Given the description of an element on the screen output the (x, y) to click on. 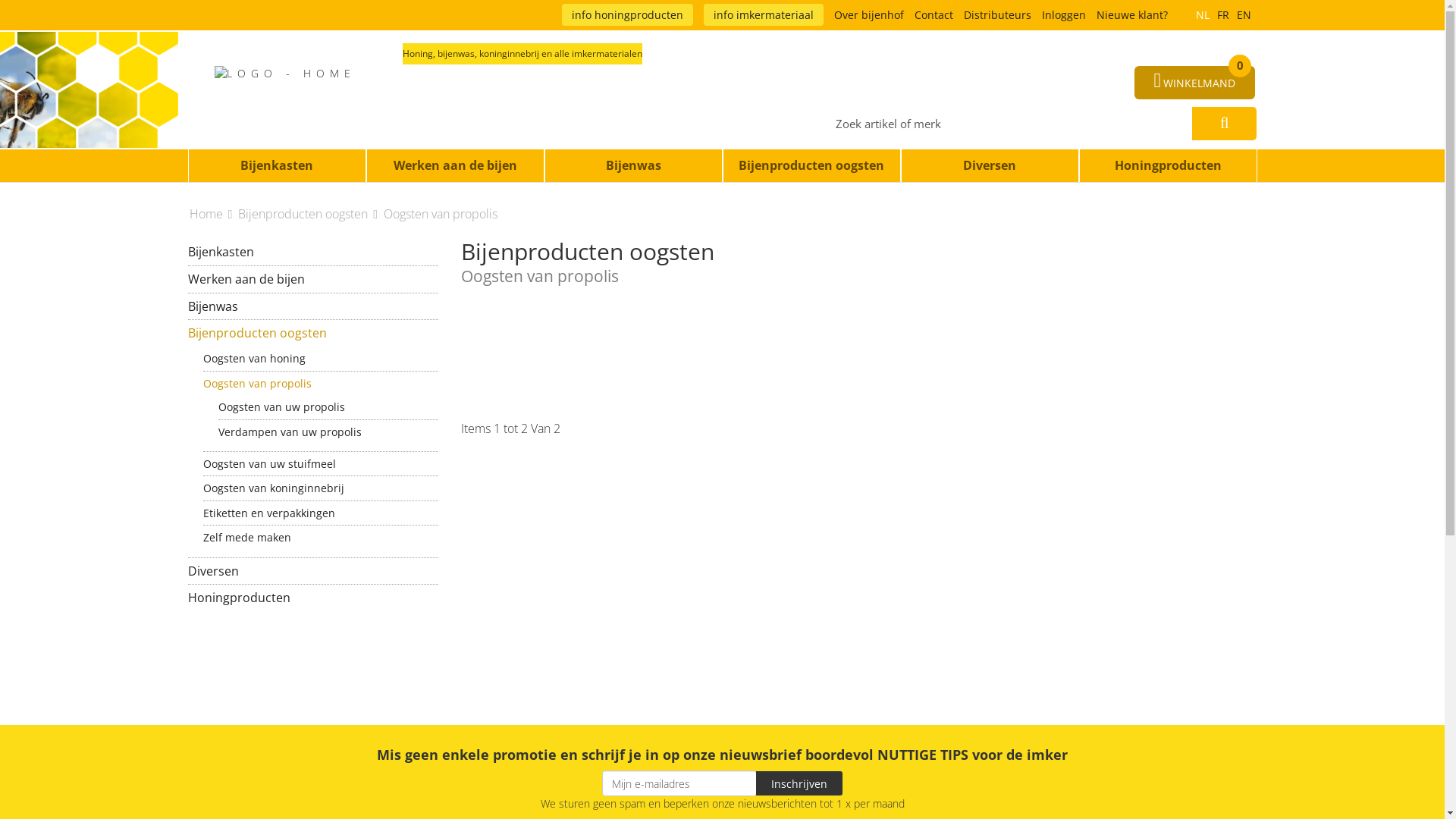
Diversen Element type: text (989, 165)
Etiketten en verpakkingen Element type: text (320, 512)
Nieuwe klant? Element type: text (1131, 14)
Oogsten van propolis Element type: text (320, 383)
Diversen Element type: text (313, 571)
Bijenproducten oogsten Element type: text (313, 333)
info imkermateriaal Element type: text (763, 14)
Verdampen van uw propolis Element type: text (328, 431)
FR Element type: text (1222, 15)
Contact Element type: text (933, 14)
info honingproducten Element type: text (626, 14)
Bijenwas Element type: text (313, 306)
Zelf mede maken Element type: text (320, 537)
Bijenkasten Element type: text (313, 251)
Bijenwas Element type: text (633, 165)
Oogsten van uw stuifmeel Element type: text (320, 463)
Honingproducten Element type: text (1167, 165)
Oogsten van propolis Element type: text (440, 213)
Bijenkasten Element type: text (277, 165)
Bijenproducten oogsten Element type: text (810, 165)
Distributeurs Element type: text (996, 14)
WINKELMAND
0 Element type: text (1194, 82)
Werken aan de bijen Element type: text (454, 165)
NL Element type: text (1202, 15)
Over bijenhof Element type: text (868, 14)
Oogsten van honing Element type: text (320, 358)
Inschrijven Element type: text (799, 783)
EN Element type: text (1243, 15)
Home Element type: text (212, 213)
Bijenproducten oogsten Element type: text (309, 213)
Honingproducten Element type: text (313, 597)
Werken aan de bijen Element type: text (313, 279)
Oogsten van koninginnebrij Element type: text (320, 487)
Oogsten van uw propolis Element type: text (328, 406)
Inloggen Element type: text (1063, 14)
